Given the description of an element on the screen output the (x, y) to click on. 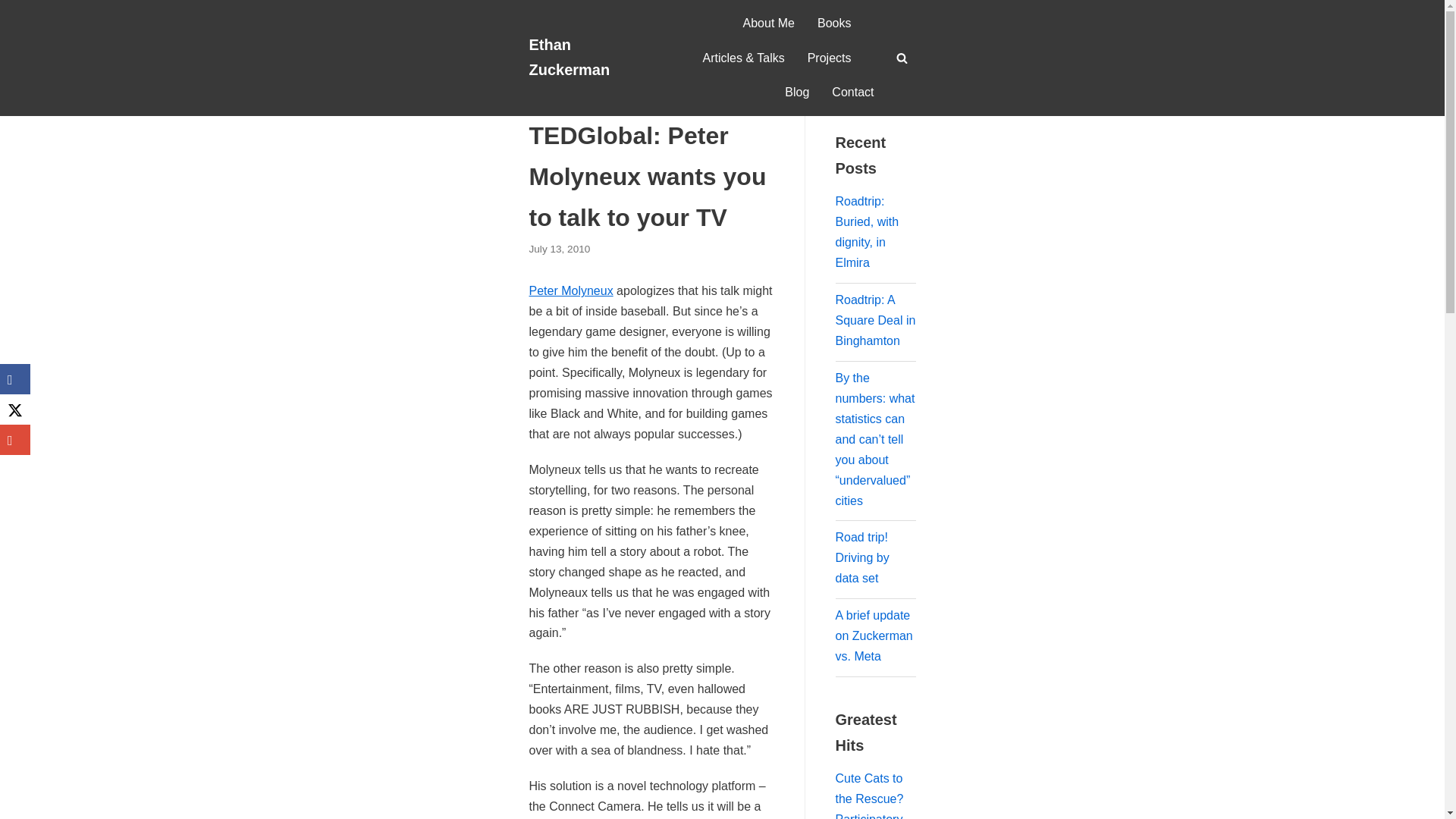
Roadtrip: A Square Deal in Binghamton (875, 320)
A brief update on Zuckerman vs. Meta (873, 635)
Home (542, 84)
Ethan Zuckerman (586, 57)
Blog (577, 84)
Search (897, 87)
Search (897, 87)
Skip to content (15, 31)
Ethan Zuckerman (586, 57)
